Given the description of an element on the screen output the (x, y) to click on. 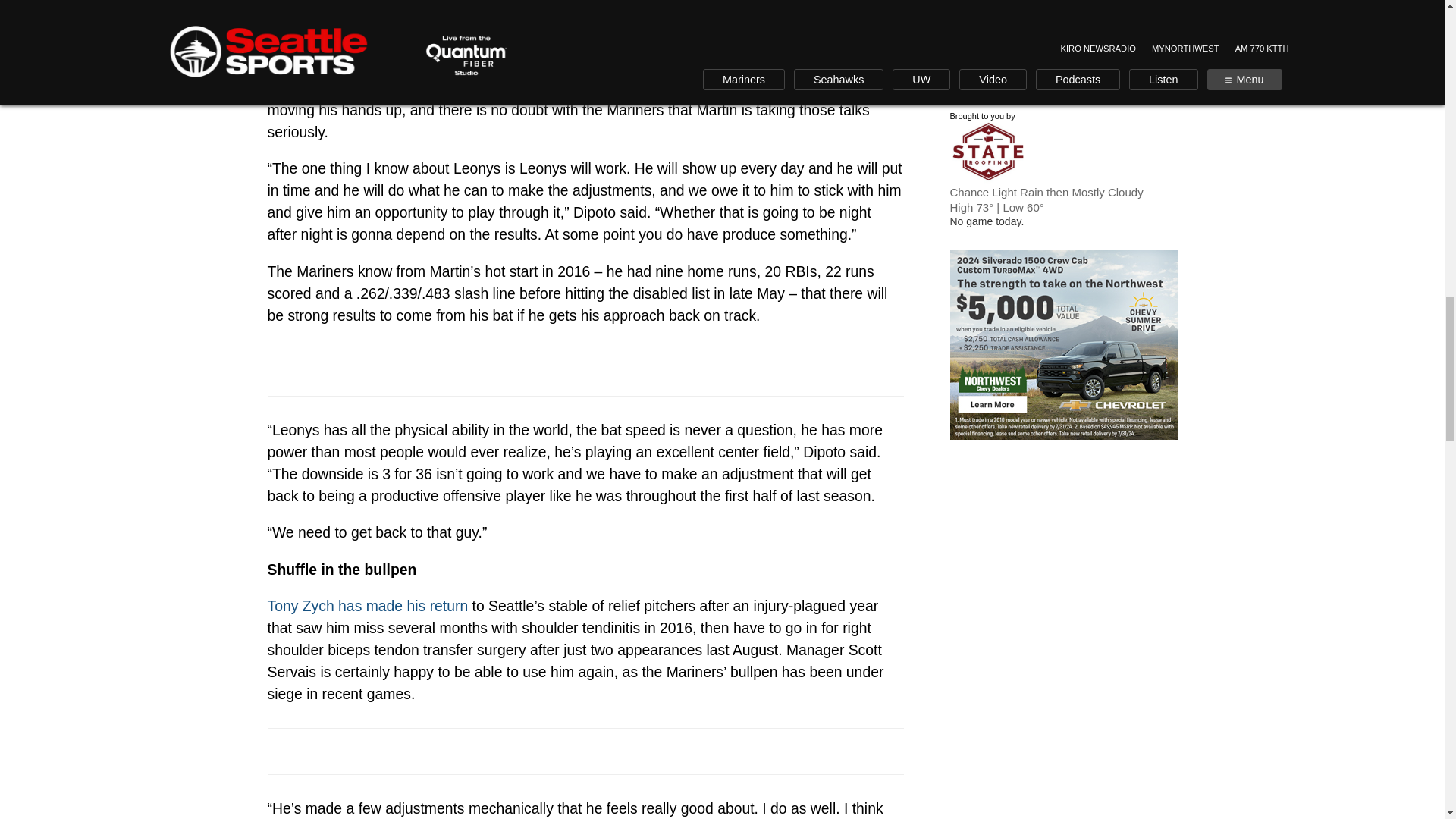
widget (1062, 29)
